Given the description of an element on the screen output the (x, y) to click on. 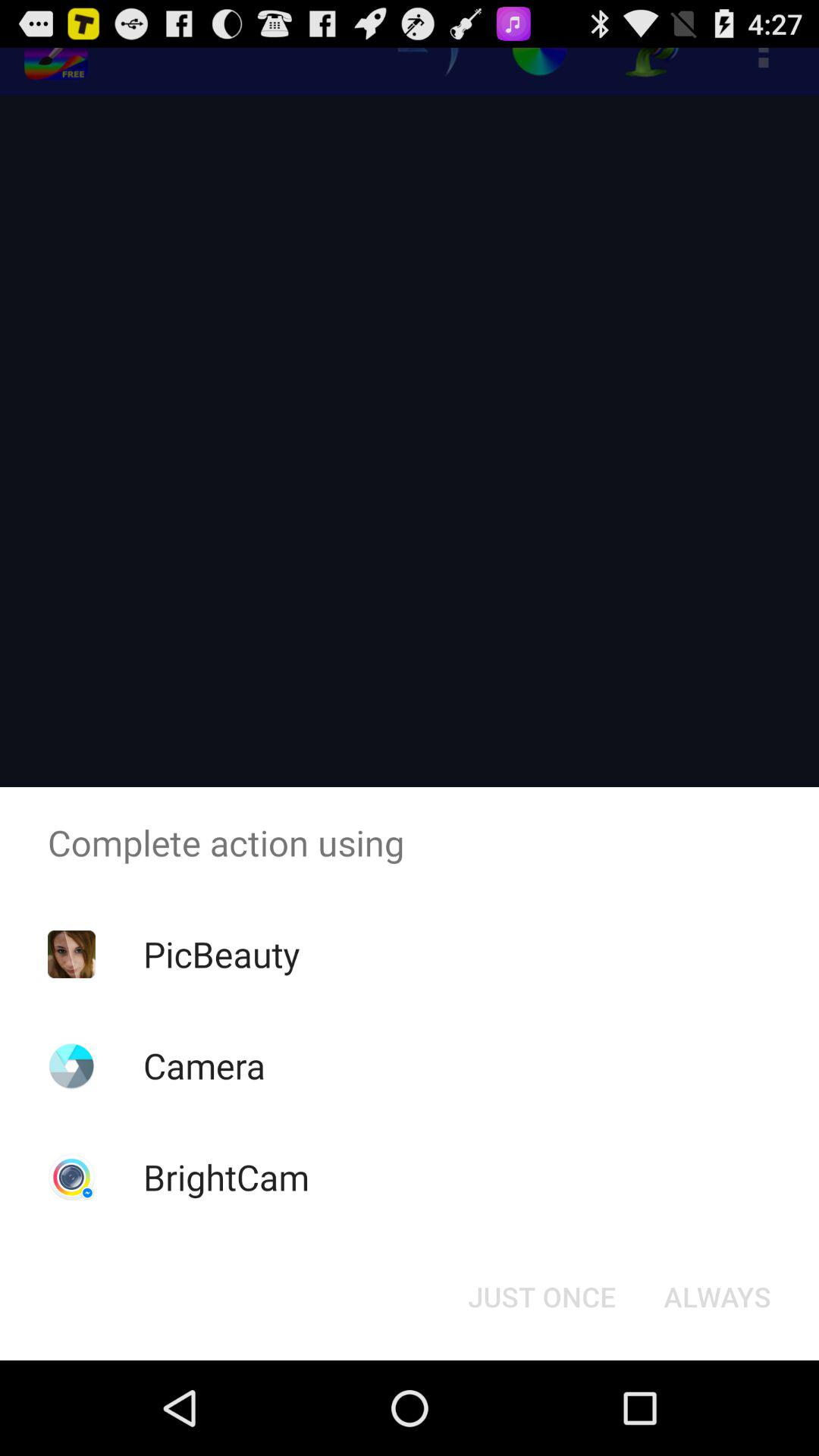
click icon at the bottom (541, 1296)
